Given the description of an element on the screen output the (x, y) to click on. 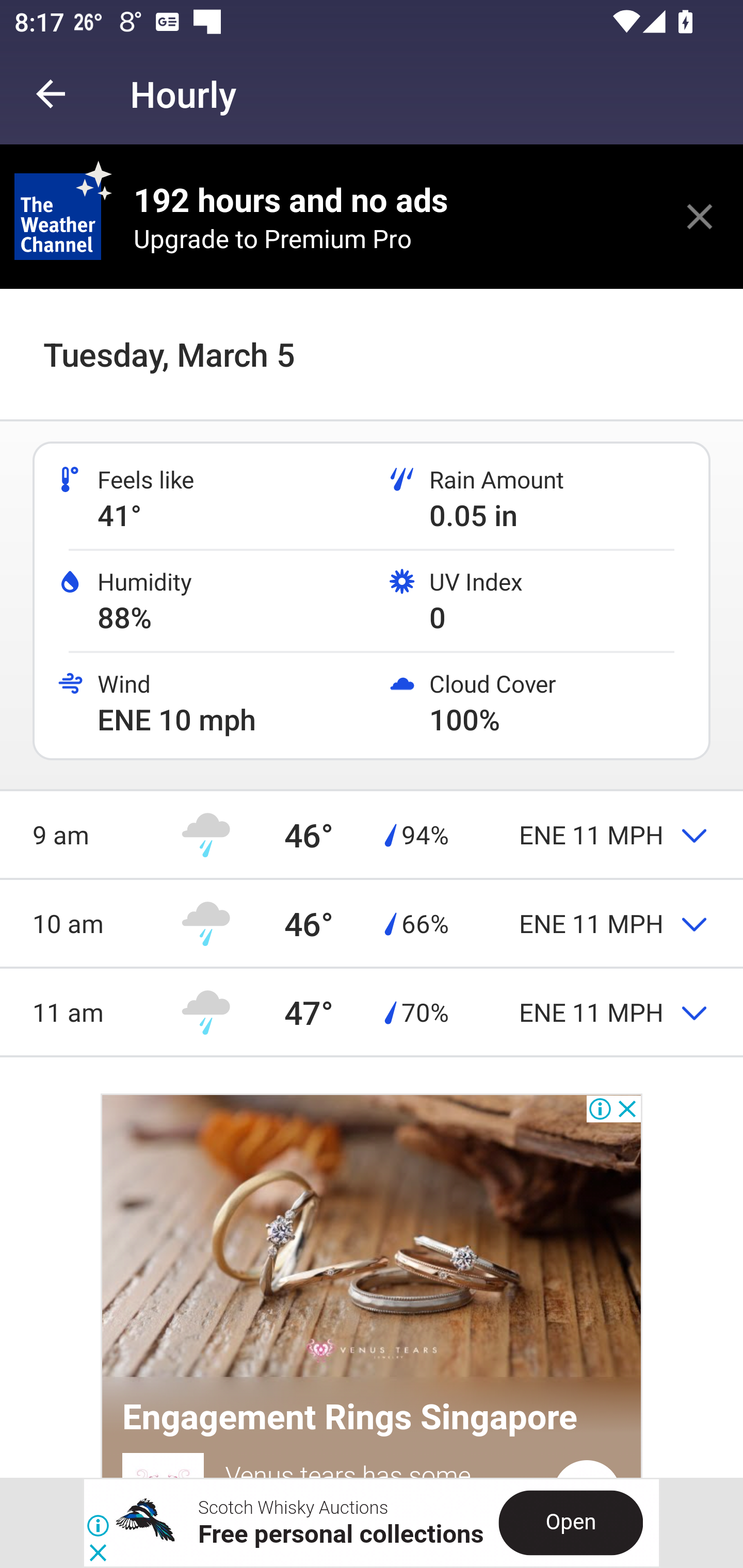
Navigate up (50, 93)
close this (699, 216)
8 am 46° 100% ENE 10 MPH (371, 334)
9 am 46° 94% ENE 11 MPH (371, 834)
10 am 46° 66% ENE 11 MPH (371, 922)
11 am 47° 70% ENE 11 MPH (371, 1012)
venus-tears (371, 1238)
Engagement Rings Singapore (349, 1417)
